Given the description of an element on the screen output the (x, y) to click on. 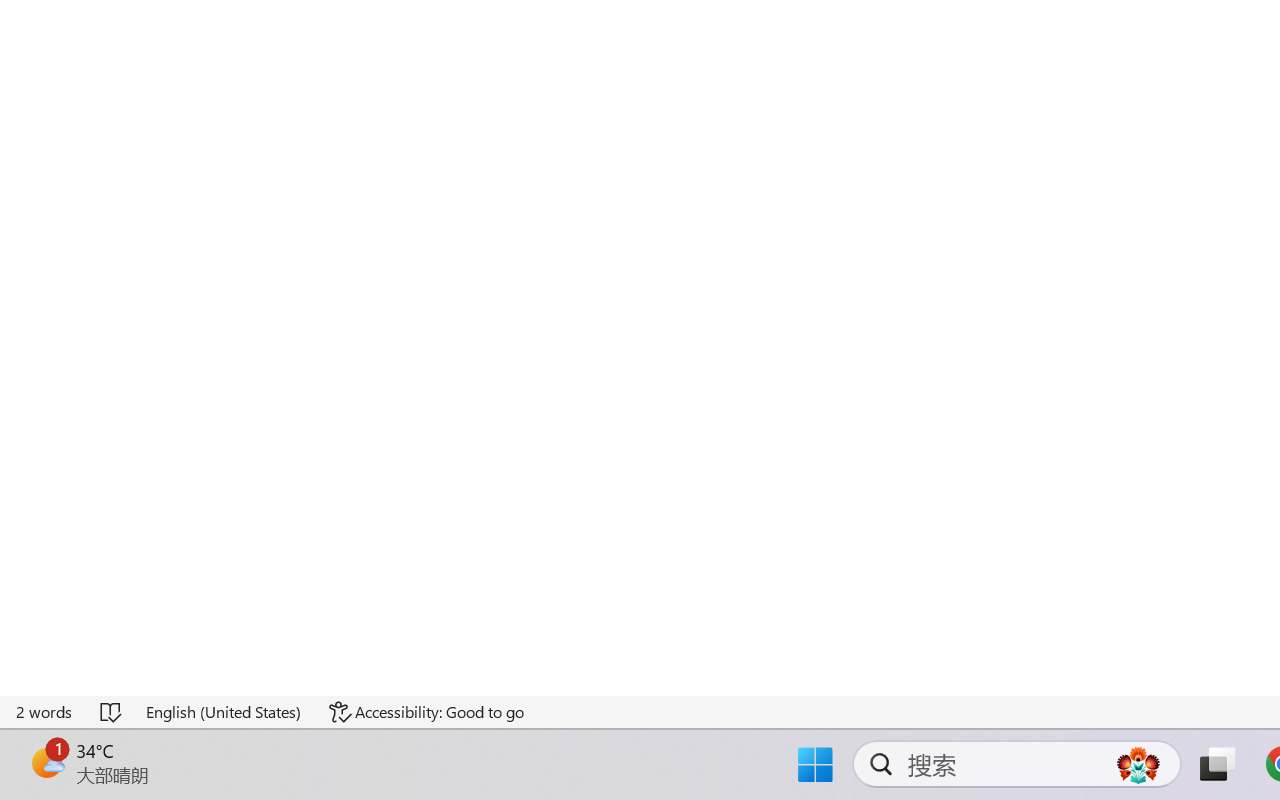
Language English (United States) (224, 712)
AutomationID: BadgeAnchorLargeTicker (46, 762)
AutomationID: DynamicSearchBoxGleamImage (1138, 764)
Word Count 2 words (45, 712)
Spelling and Grammar Check No Errors (112, 712)
Accessibility Checker Accessibility: Good to go (426, 712)
